Given the description of an element on the screen output the (x, y) to click on. 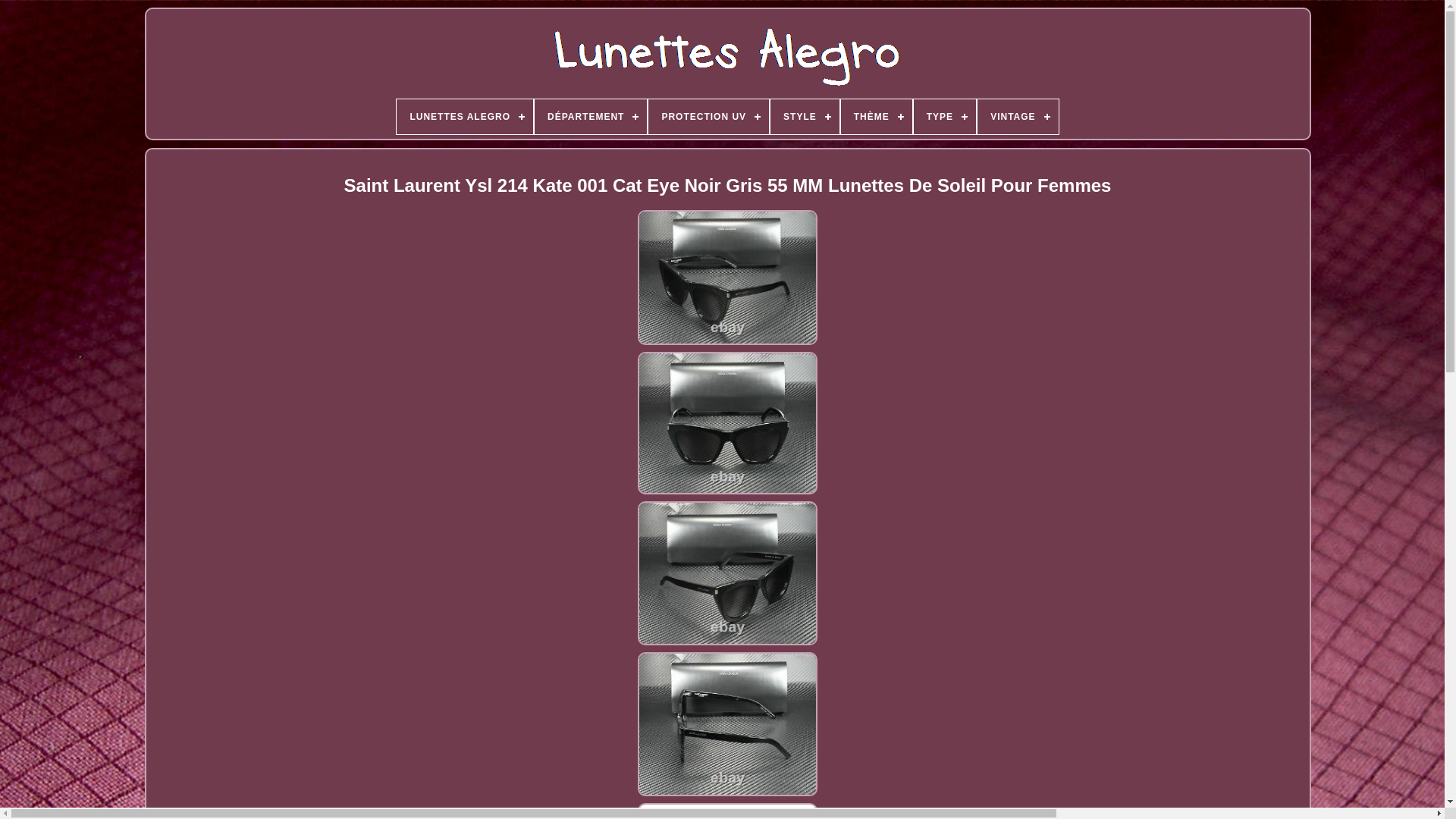
LUNETTES ALEGRO Element type: text (464, 116)
TYPE Element type: text (944, 116)
PROTECTION UV Element type: text (708, 116)
VINTAGE Element type: text (1017, 116)
STYLE Element type: text (804, 116)
